Given the description of an element on the screen output the (x, y) to click on. 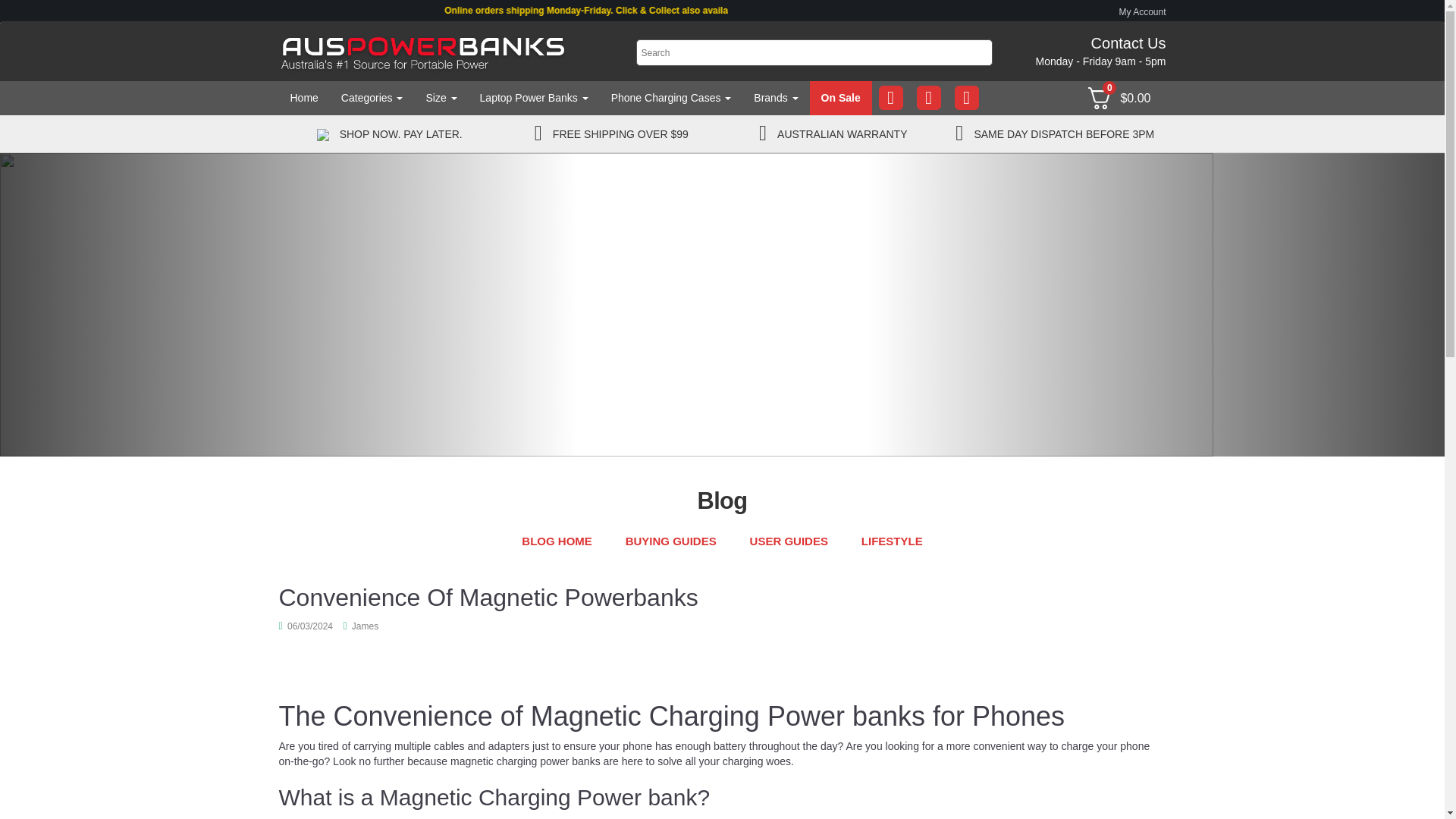
Home (304, 98)
Size (440, 98)
Contact Us (1128, 43)
Categories (372, 98)
Home (304, 98)
Laptop Power Banks (533, 98)
Categories (372, 98)
My Account (1142, 11)
